Given the description of an element on the screen output the (x, y) to click on. 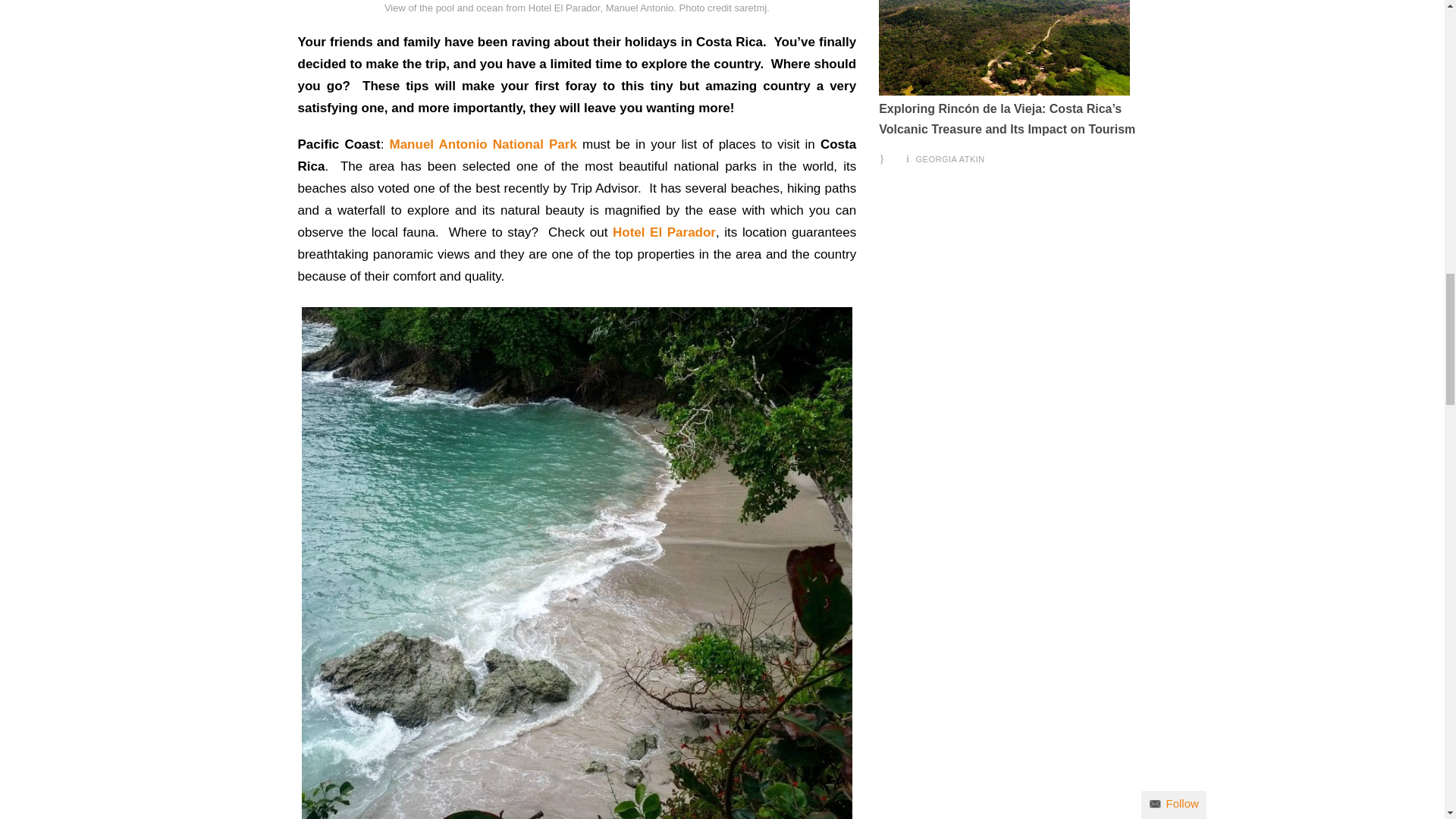
Manuel Antonio National Park (483, 144)
Hotel El Parador (664, 232)
